Given the description of an element on the screen output the (x, y) to click on. 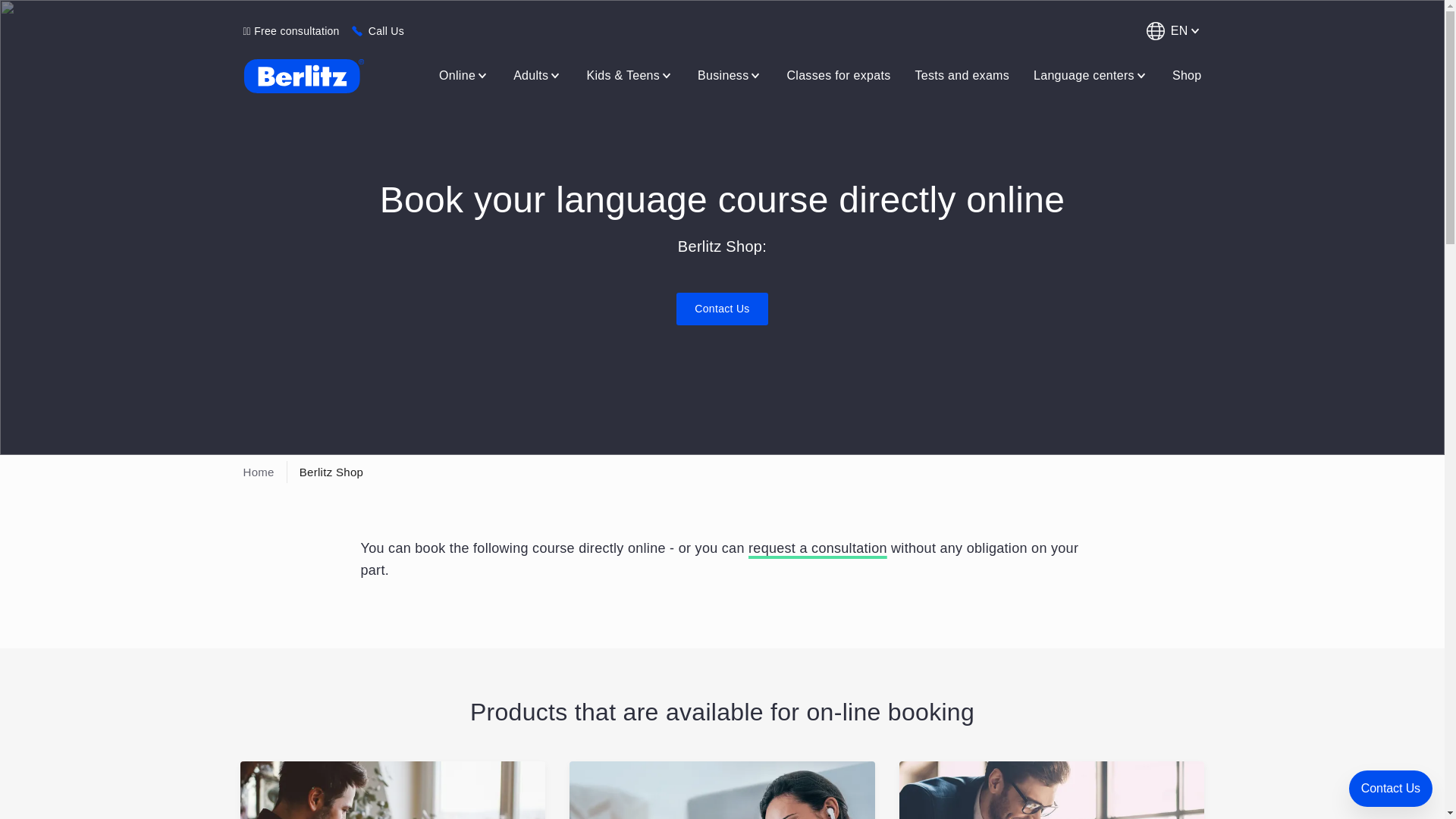
Language centers (1090, 75)
Classes for expats (838, 75)
Berlitz (303, 75)
Call Us (386, 30)
Adults (536, 75)
Shop (1187, 75)
Berlitz CH (302, 76)
EN (1171, 30)
Online (463, 75)
Business (729, 75)
